Given the description of an element on the screen output the (x, y) to click on. 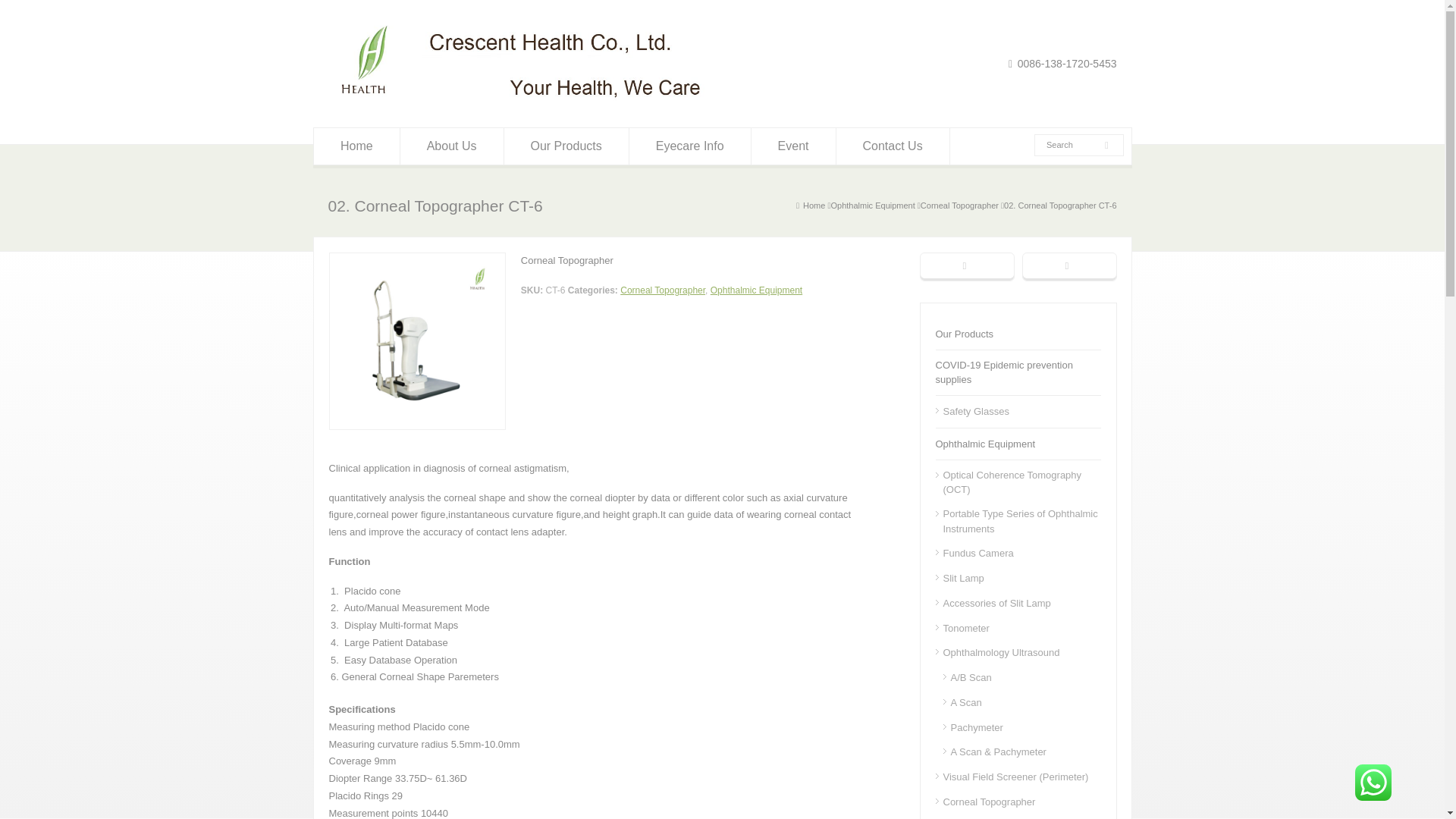
02. Corneal Topographer CT-6 (1060, 204)
Ophthalmic Equipment (871, 204)
Search (1072, 144)
Home (356, 145)
Our Products (565, 145)
Crescent Health (814, 204)
Search (1072, 144)
Crescent Health (520, 99)
View all products in Corneal Topographer (959, 204)
About Us (451, 145)
